Given the description of an element on the screen output the (x, y) to click on. 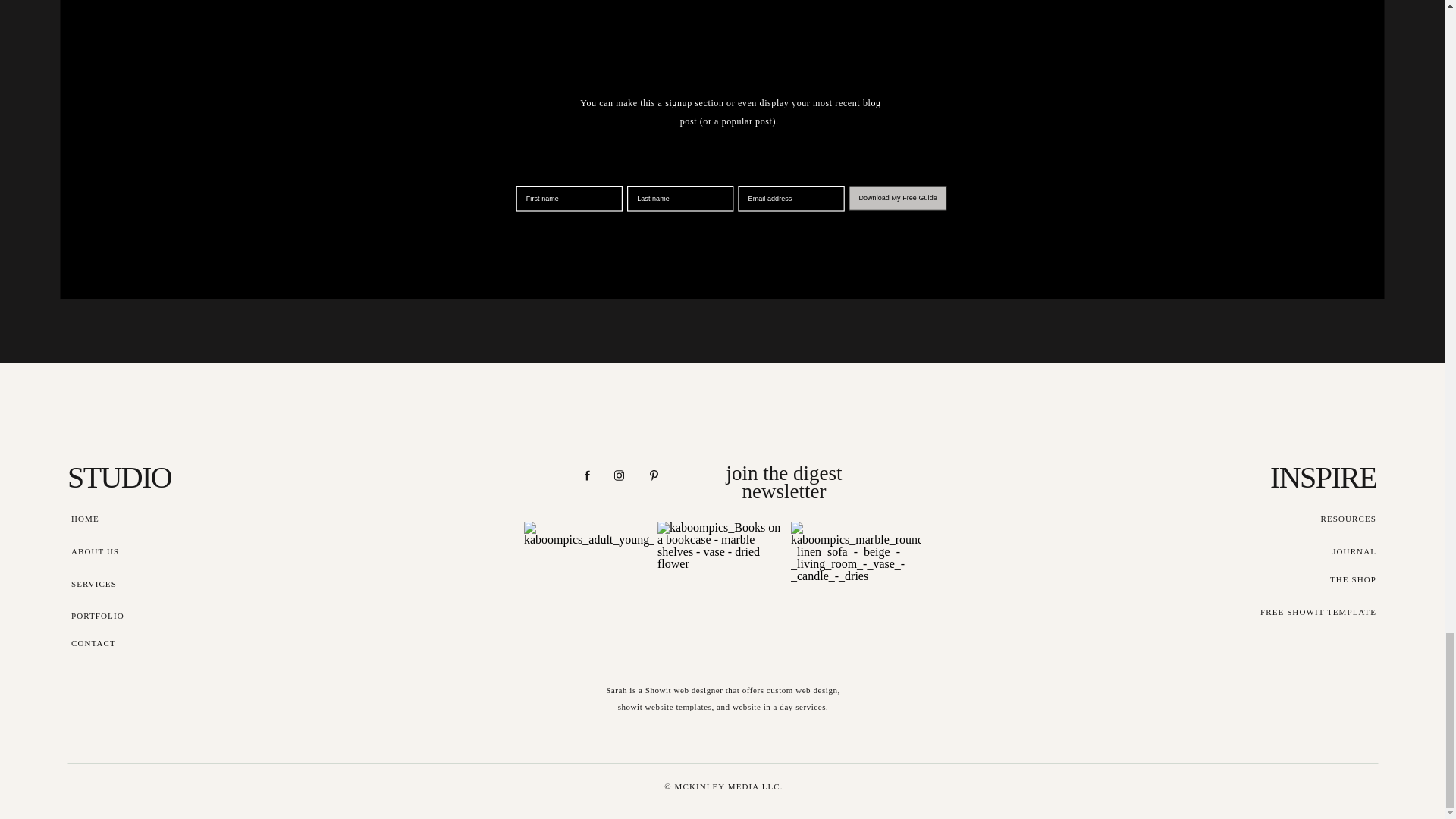
PORTFOLIO (120, 615)
SERVICES (120, 583)
JOURNAL (1326, 550)
INSPIRE (1297, 480)
FREE SHOWIT TEMPLATE (1317, 611)
ABOUT US (120, 550)
CONTACT (120, 642)
HOME (120, 518)
Download My Free Guide (929, 205)
RESOURCES (1326, 518)
